Given the description of an element on the screen output the (x, y) to click on. 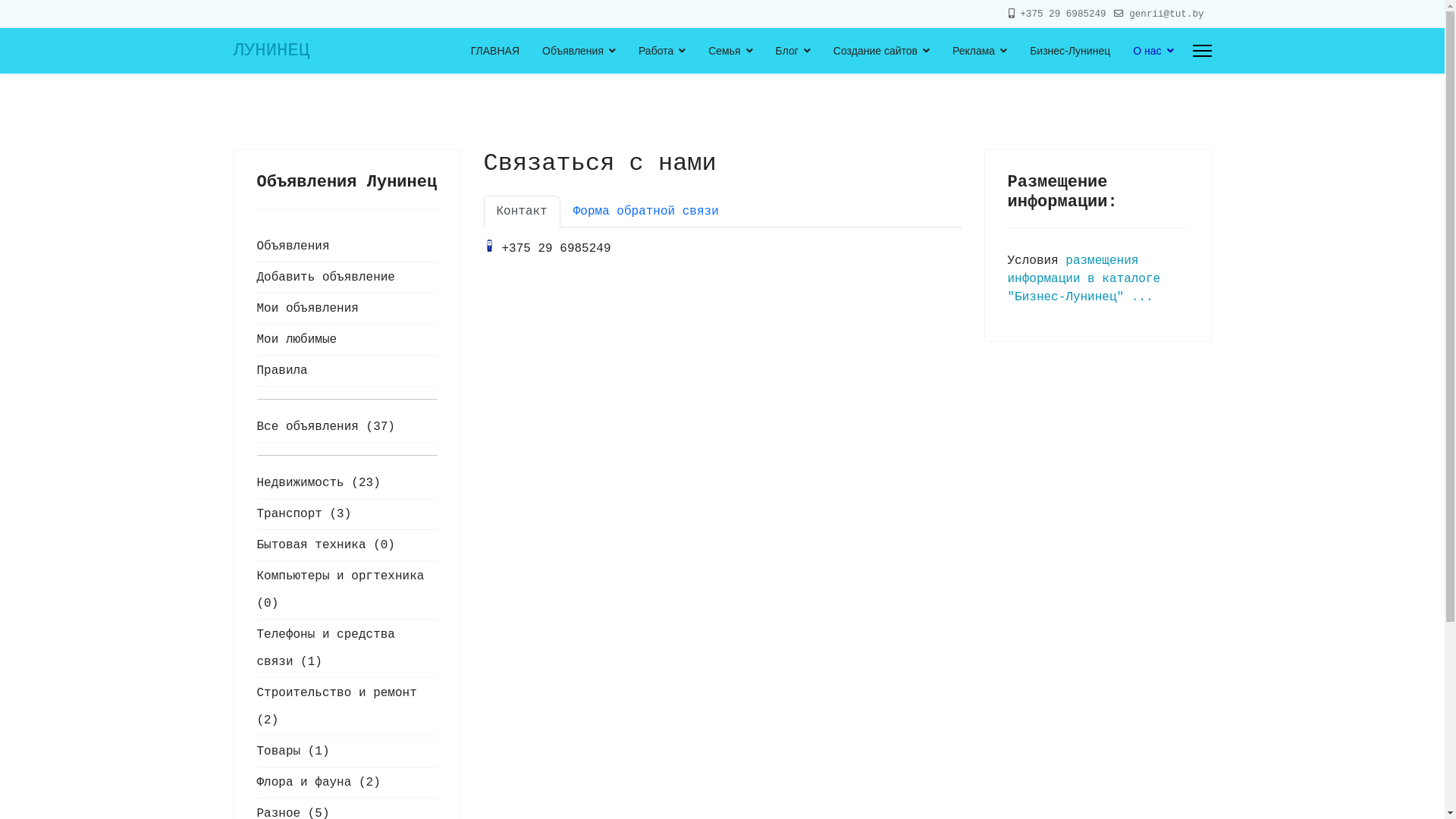
Menu Element type: hover (1201, 50)
+375 29 6985249 Element type: text (1062, 14)
genrii@tut.by Element type: text (1166, 14)
